Given the description of an element on the screen output the (x, y) to click on. 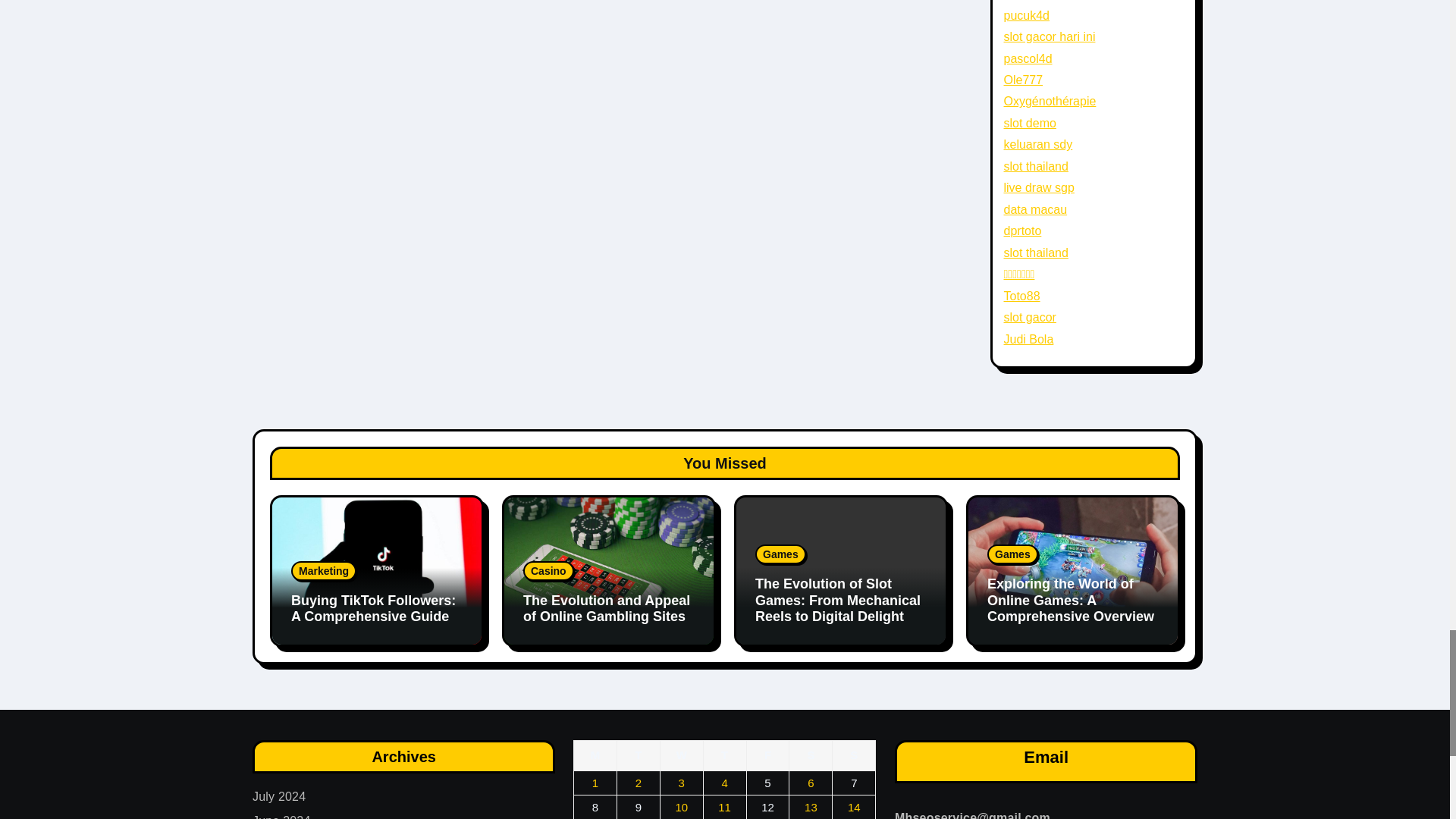
Permalink to: Buying TikTok Followers: A Comprehensive Guide (373, 608)
